Given the description of an element on the screen output the (x, y) to click on. 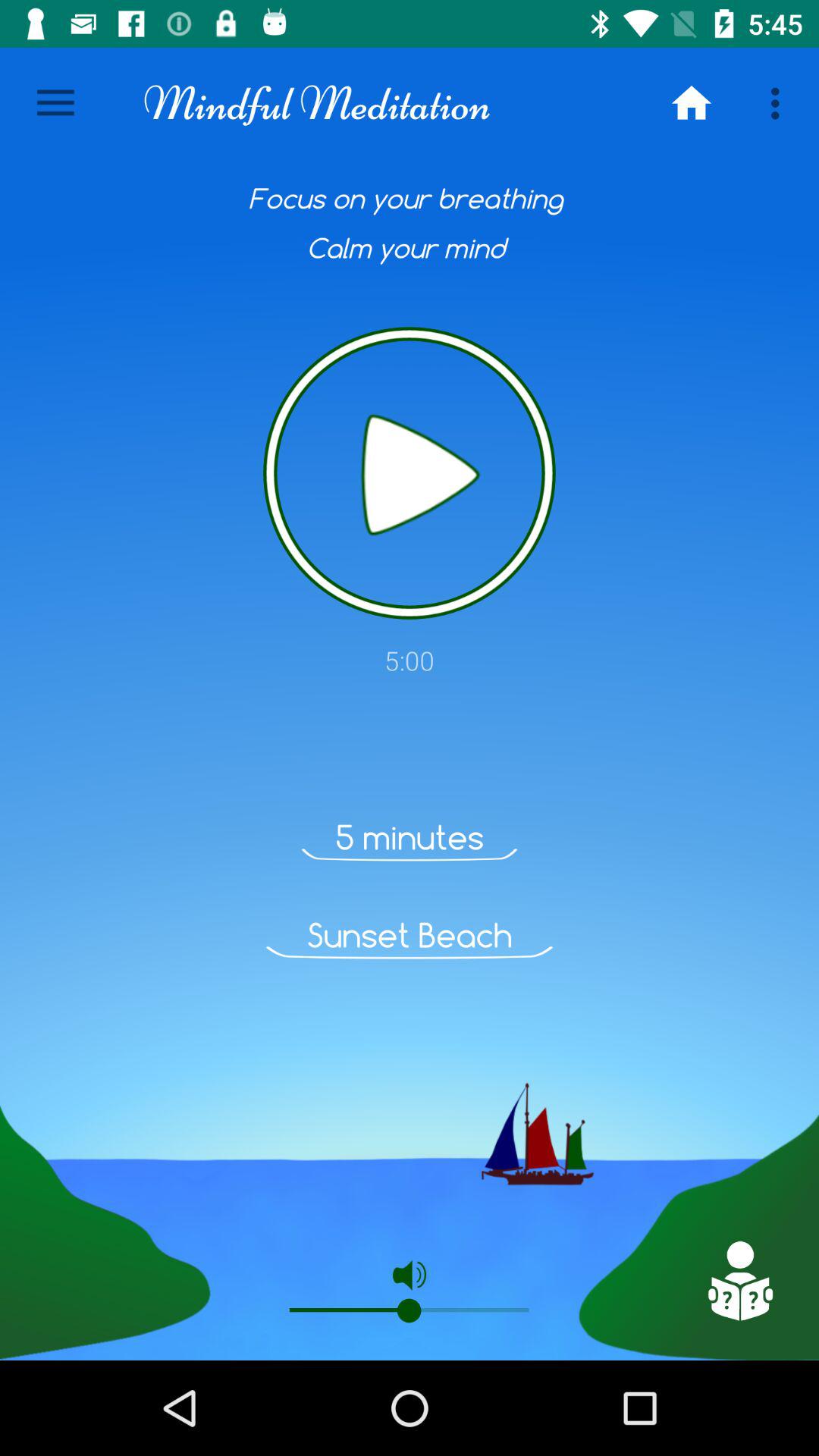
press sunset beach   icon (409, 935)
